Given the description of an element on the screen output the (x, y) to click on. 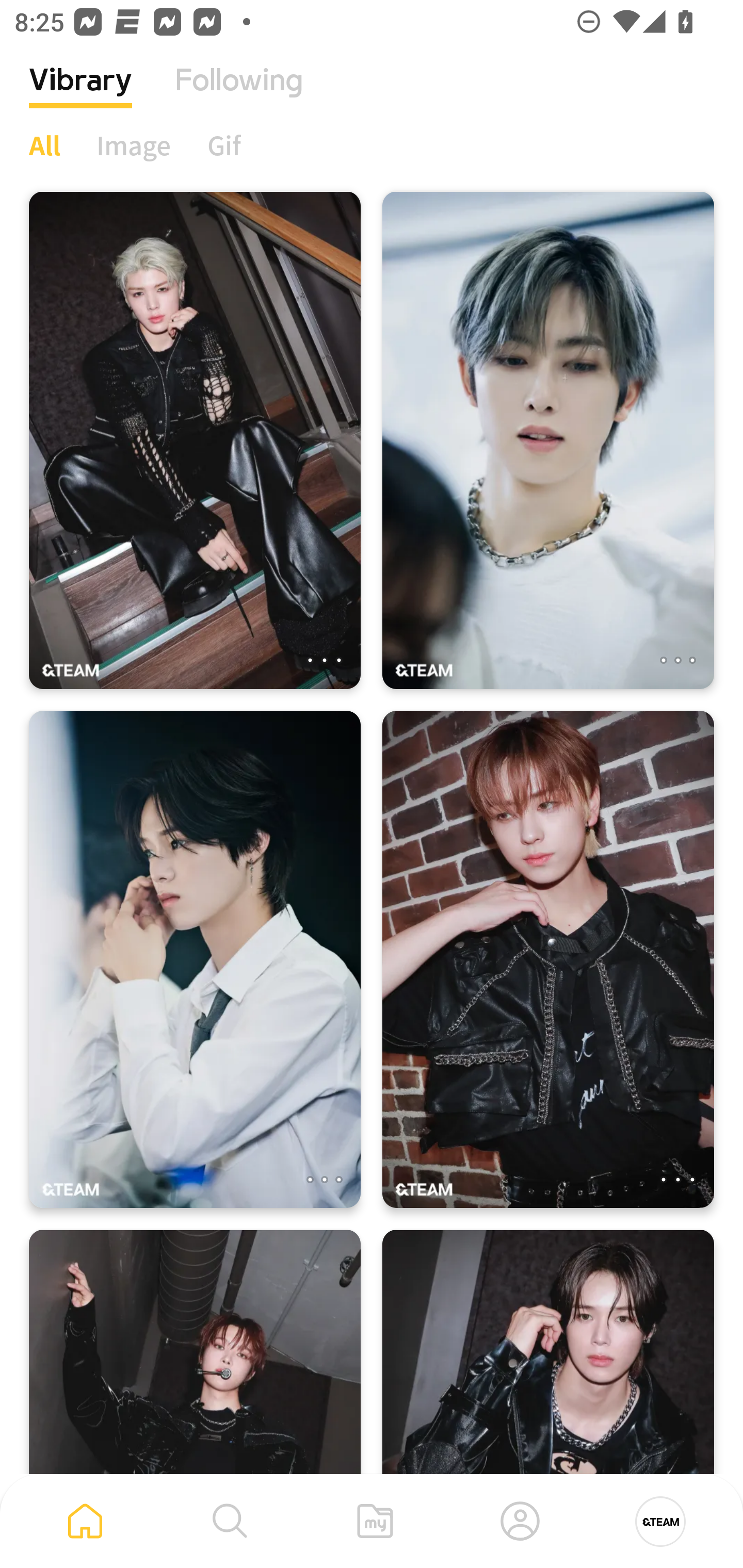
Vibrary (80, 95)
Following (239, 95)
All (44, 145)
Image (133, 145)
Gif (223, 145)
